Given the description of an element on the screen output the (x, y) to click on. 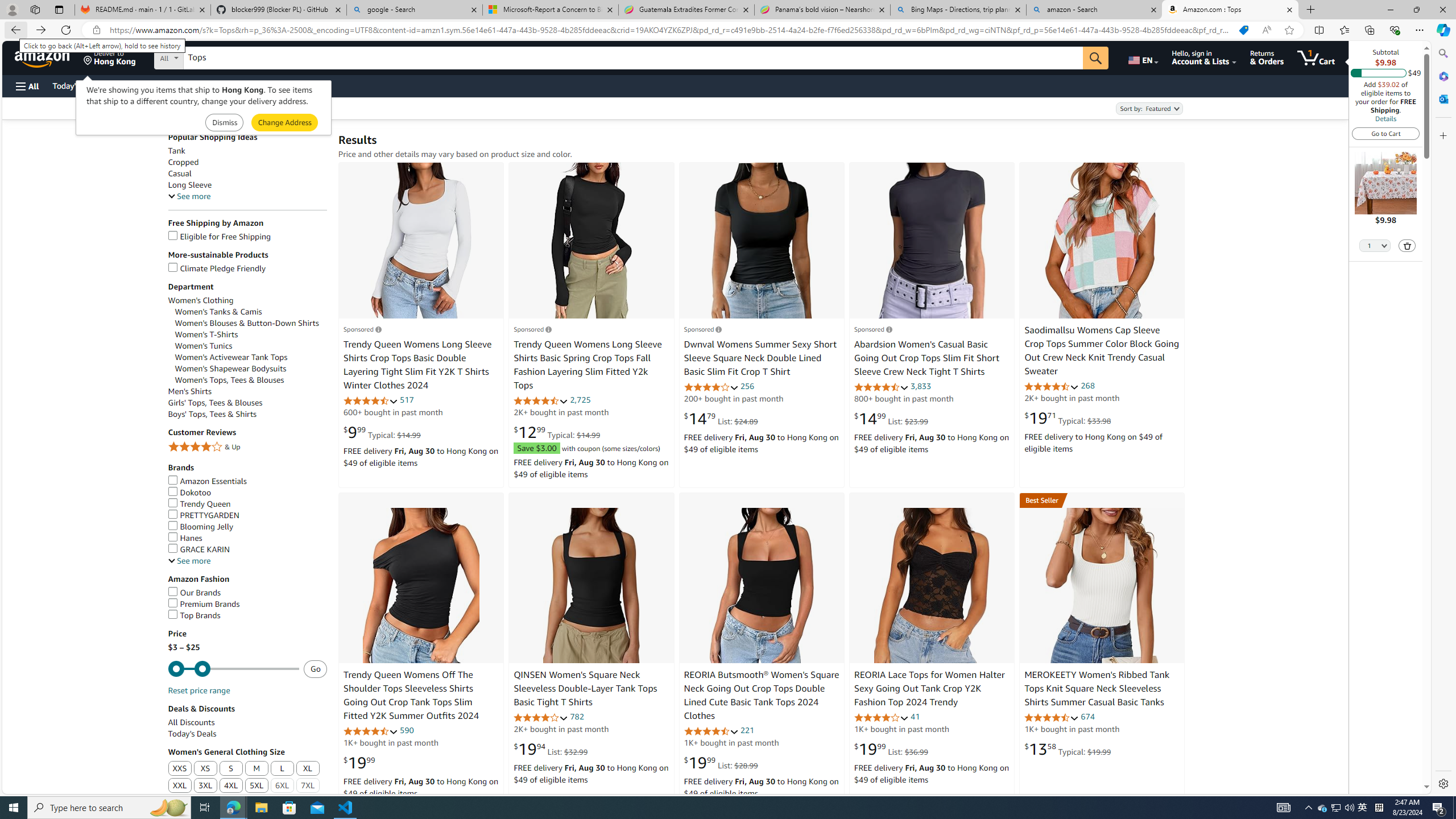
Customer Service (145, 85)
$13.58 Typical: $19.99 (1067, 748)
Skip to main search results (50, 788)
4.4 out of 5 stars (1051, 386)
Women's Blouses & Button-Down Shirts (246, 322)
Casual (179, 173)
Amazon (43, 57)
5XL (255, 785)
Cropped (183, 162)
$19.71 Typical: $33.98 (1067, 417)
S (230, 769)
